Given the description of an element on the screen output the (x, y) to click on. 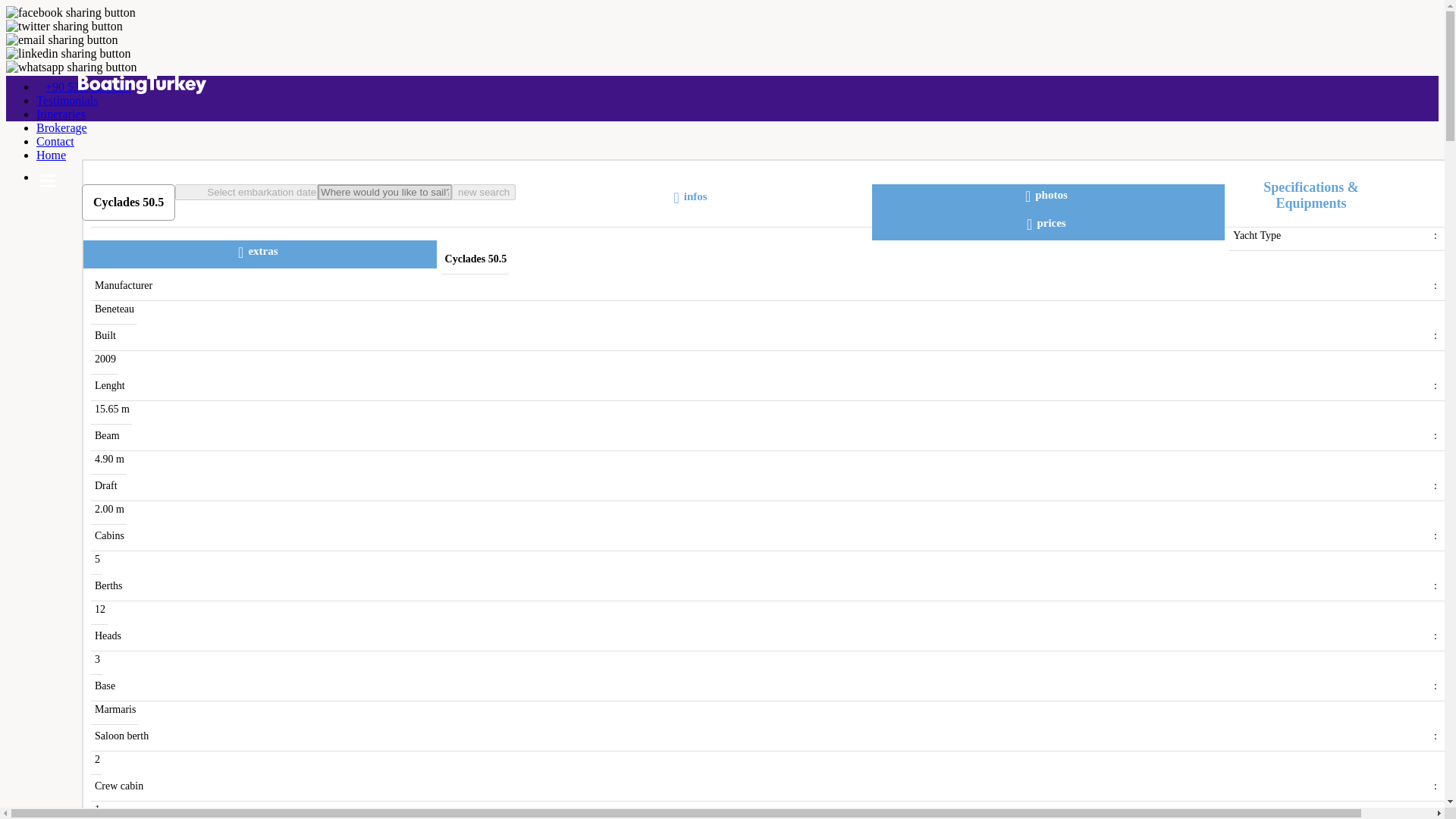
itineraries (60, 113)
Contact (55, 141)
Brokerage (61, 127)
boatingturkey.net (721, 87)
Home (50, 154)
Contact (55, 141)
new search (483, 191)
Select embarkation date (245, 191)
Testimonials (67, 100)
Testimonials (67, 100)
